Given the description of an element on the screen output the (x, y) to click on. 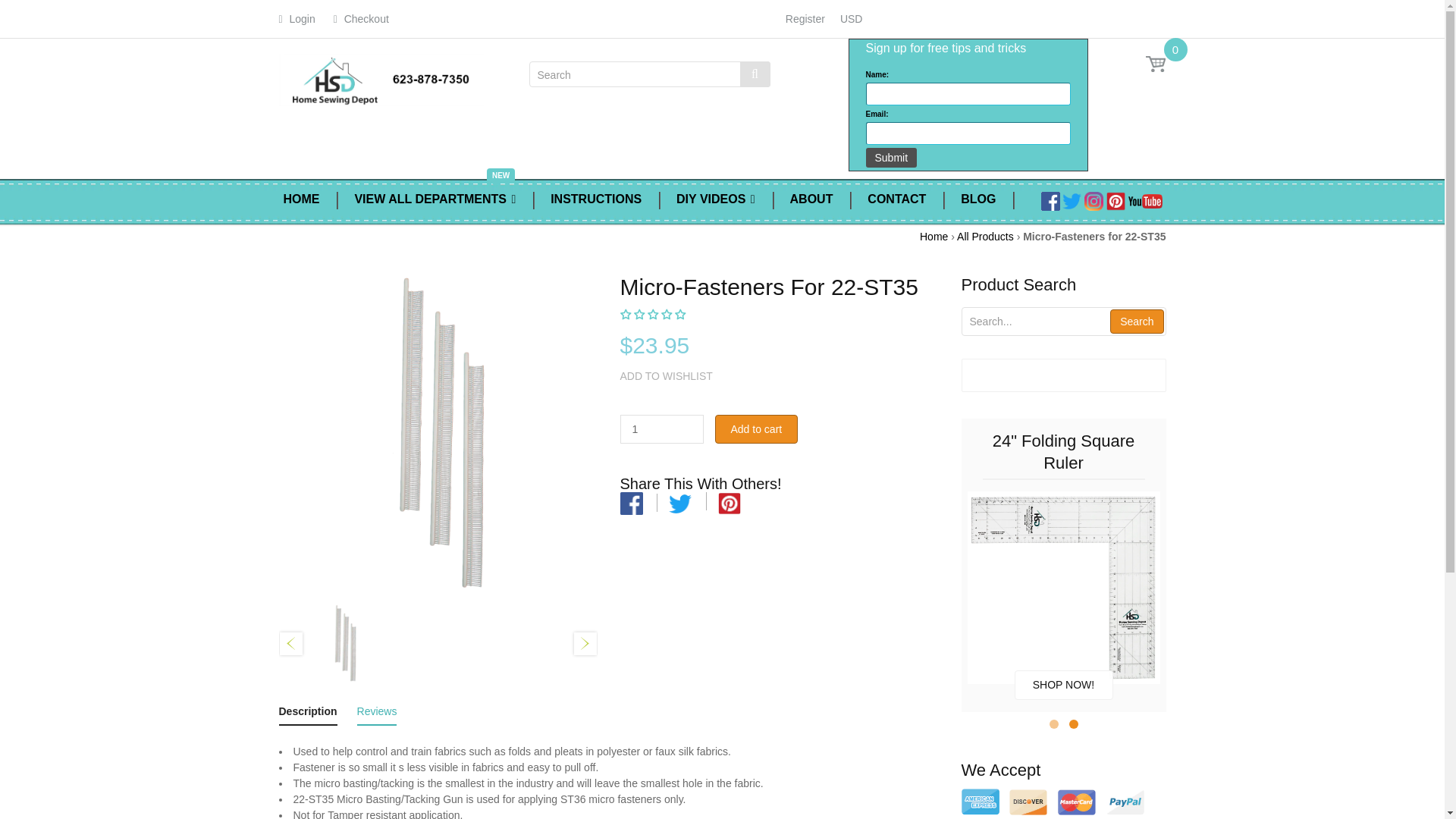
Pinterest (1115, 200)
Pinterest (1144, 200)
Twitter (679, 502)
Submit (891, 157)
Login (297, 18)
Instagram (1093, 200)
cart (1155, 63)
Register (803, 18)
Increase (689, 423)
All Products (984, 236)
Share this on Facebook (631, 503)
Twitter (1071, 200)
Home Sewing Depot (381, 76)
Tweet this (679, 503)
Decrease (689, 434)
